Given the description of an element on the screen output the (x, y) to click on. 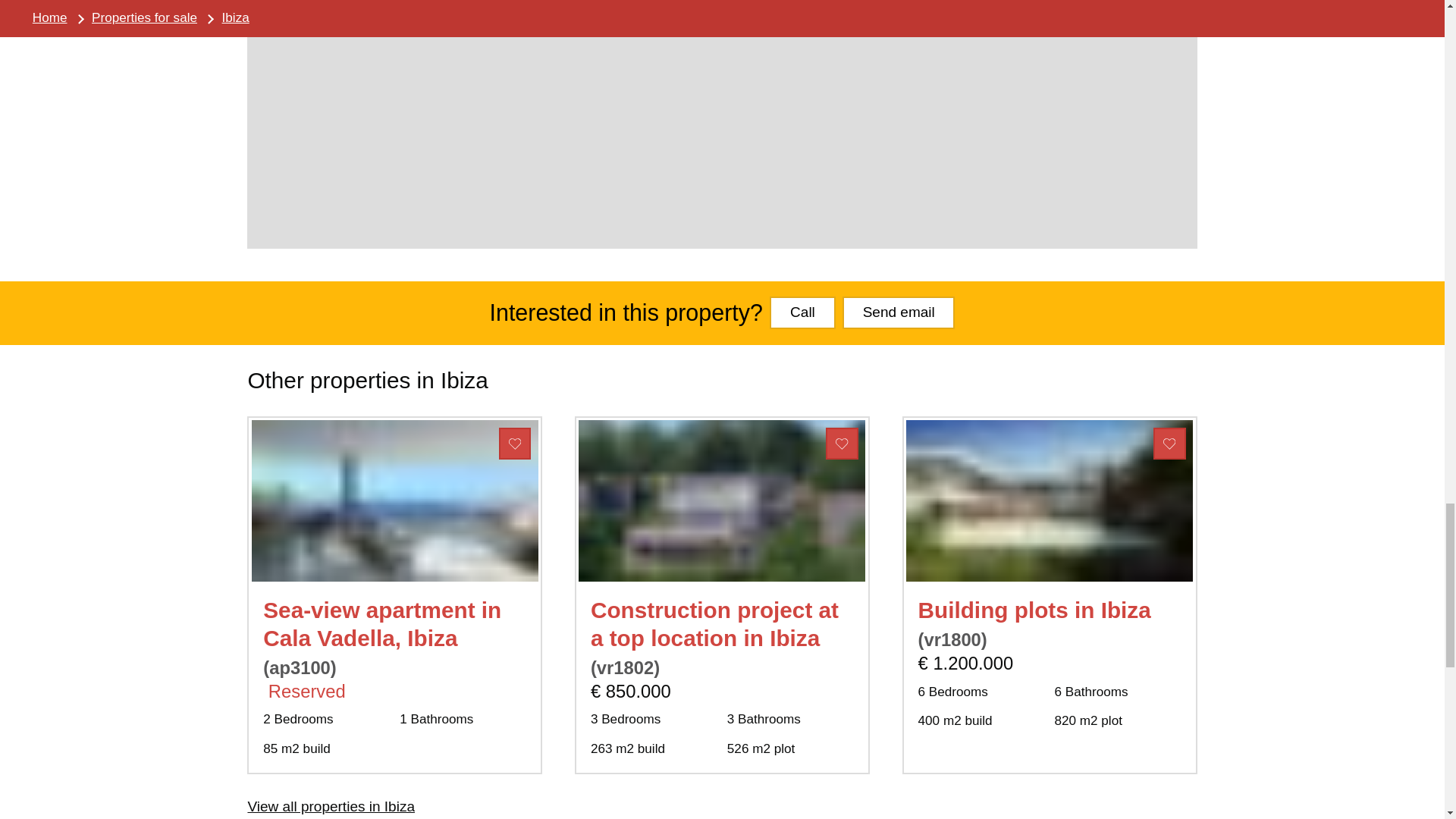
View all properties in Ibiza (330, 806)
Construction project at a top location in Ibiza (714, 623)
Building plots in Ibiza (1034, 609)
Add to favorites (1169, 443)
Add to favorites (842, 443)
Sea-view apartment in Cala Vadella, Ibiza (381, 623)
Add to favorites (515, 443)
